Given the description of an element on the screen output the (x, y) to click on. 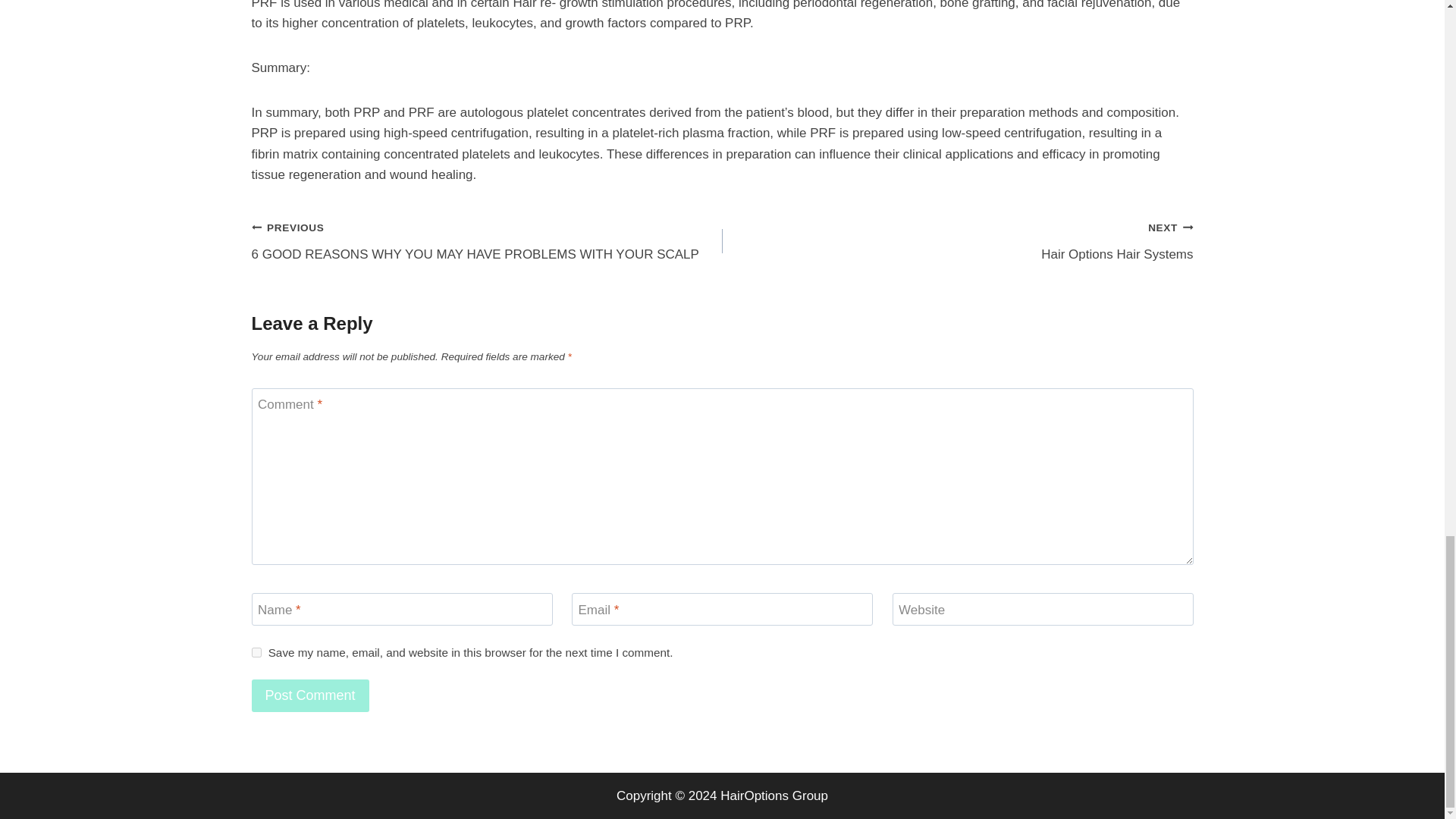
Post Comment (957, 240)
yes (310, 695)
Post Comment (256, 652)
